Given the description of an element on the screen output the (x, y) to click on. 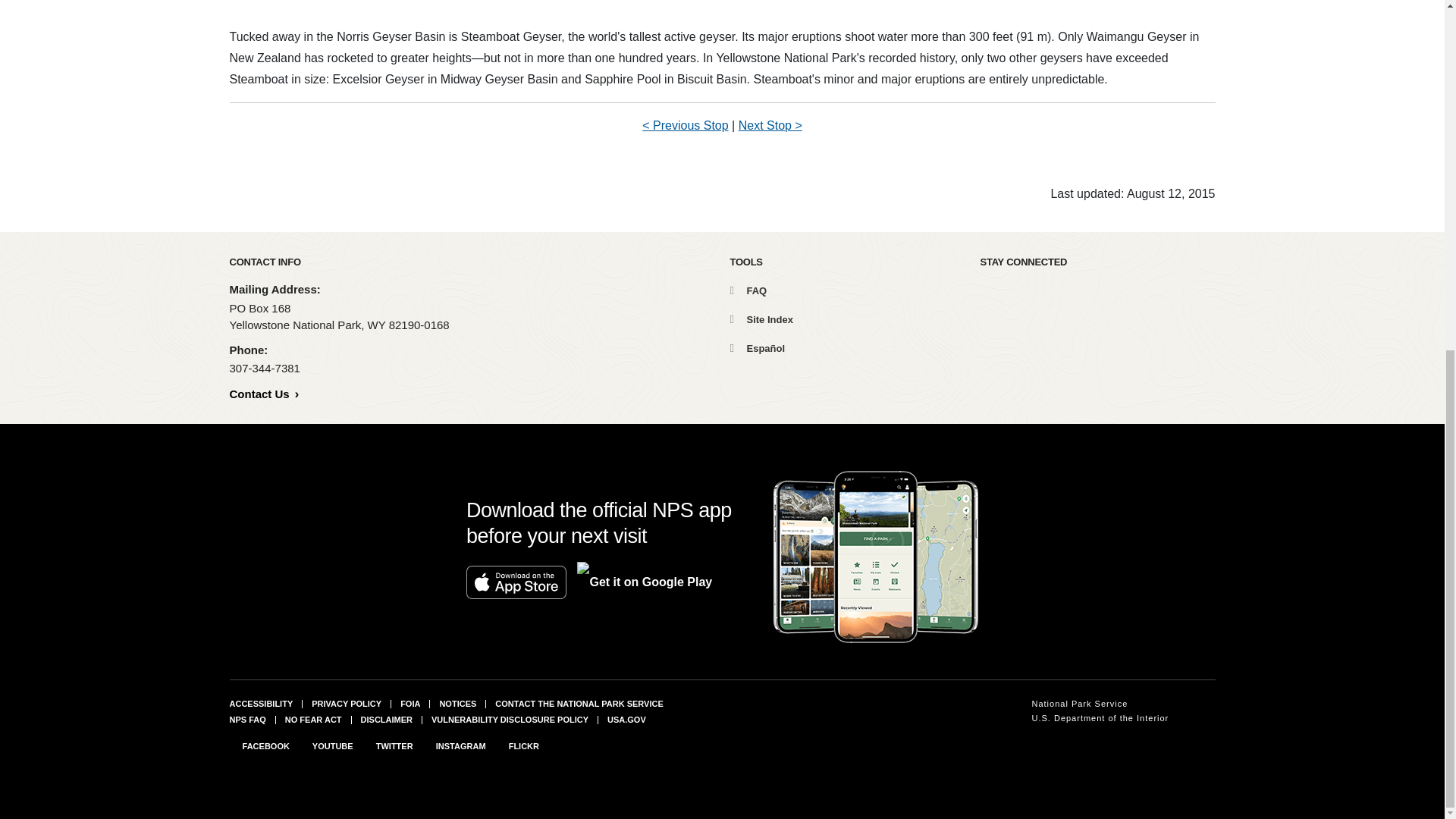
Contact Us (263, 393)
PRIVACY POLICY (346, 703)
FAQ (748, 290)
ACCESSIBILITY (260, 703)
National Park Service frequently asked questions (246, 718)
U.S. Department of the Interior (1099, 718)
National Park Service (1099, 703)
Site Index (760, 319)
FOIA (410, 703)
